Given the description of an element on the screen output the (x, y) to click on. 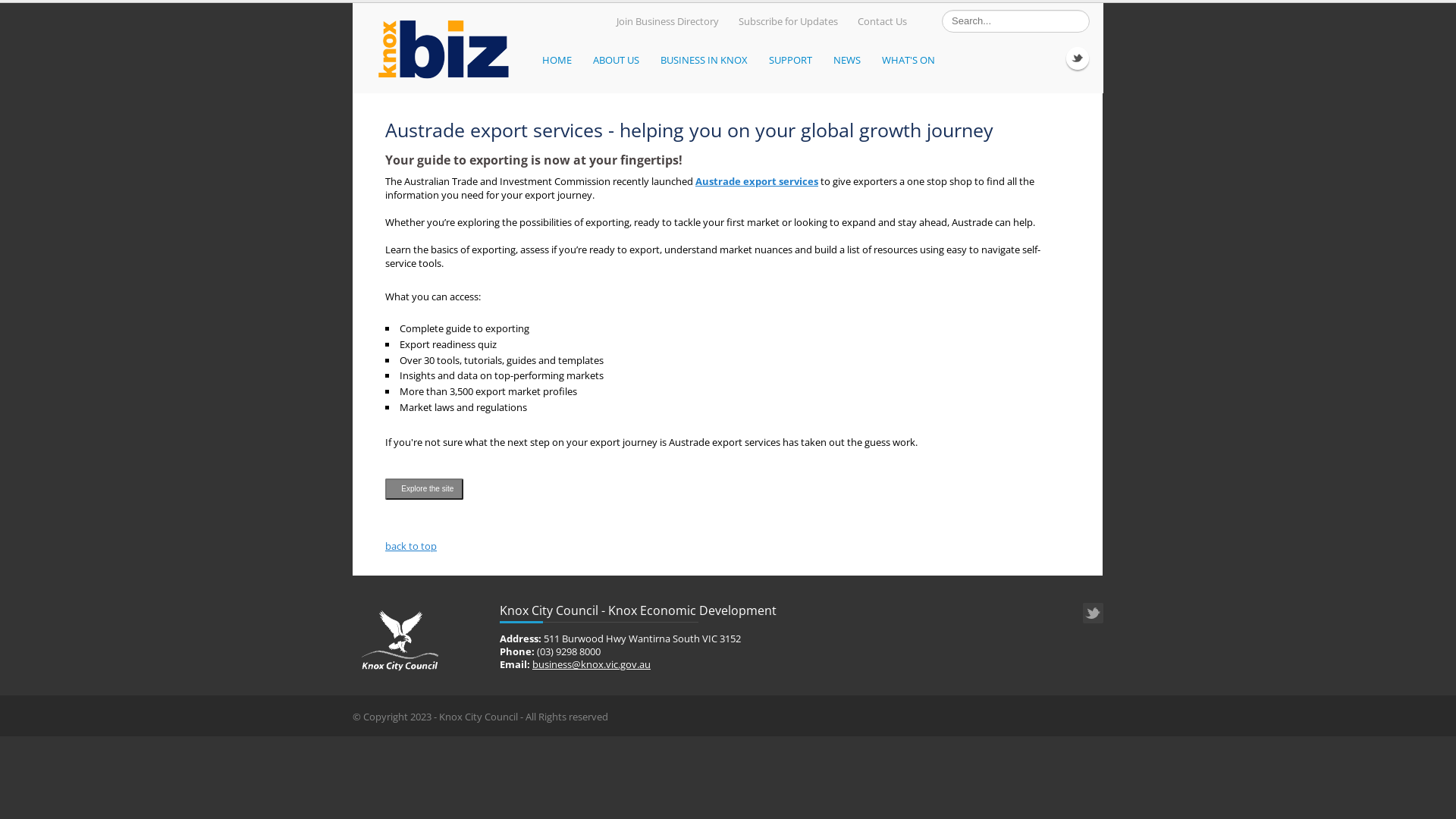
HOME Element type: text (559, 60)
back to top Element type: text (410, 545)
NEWS Element type: text (849, 60)
SUPPORT Element type: text (793, 60)
Twitter Element type: text (1077, 58)
BUSINESS IN KNOX Element type: text (706, 60)
Austrade export services Element type: text (756, 181)
Subscribe for Updates Element type: text (785, 21)
business@knox.vic.gov.au Element type: text (591, 664)
Contact Us Element type: text (879, 21)
WHAT'S ON Element type: text (911, 60)
ABOUT US Element type: text (618, 60)
Join Business Directory Element type: text (665, 21)
